Given the description of an element on the screen output the (x, y) to click on. 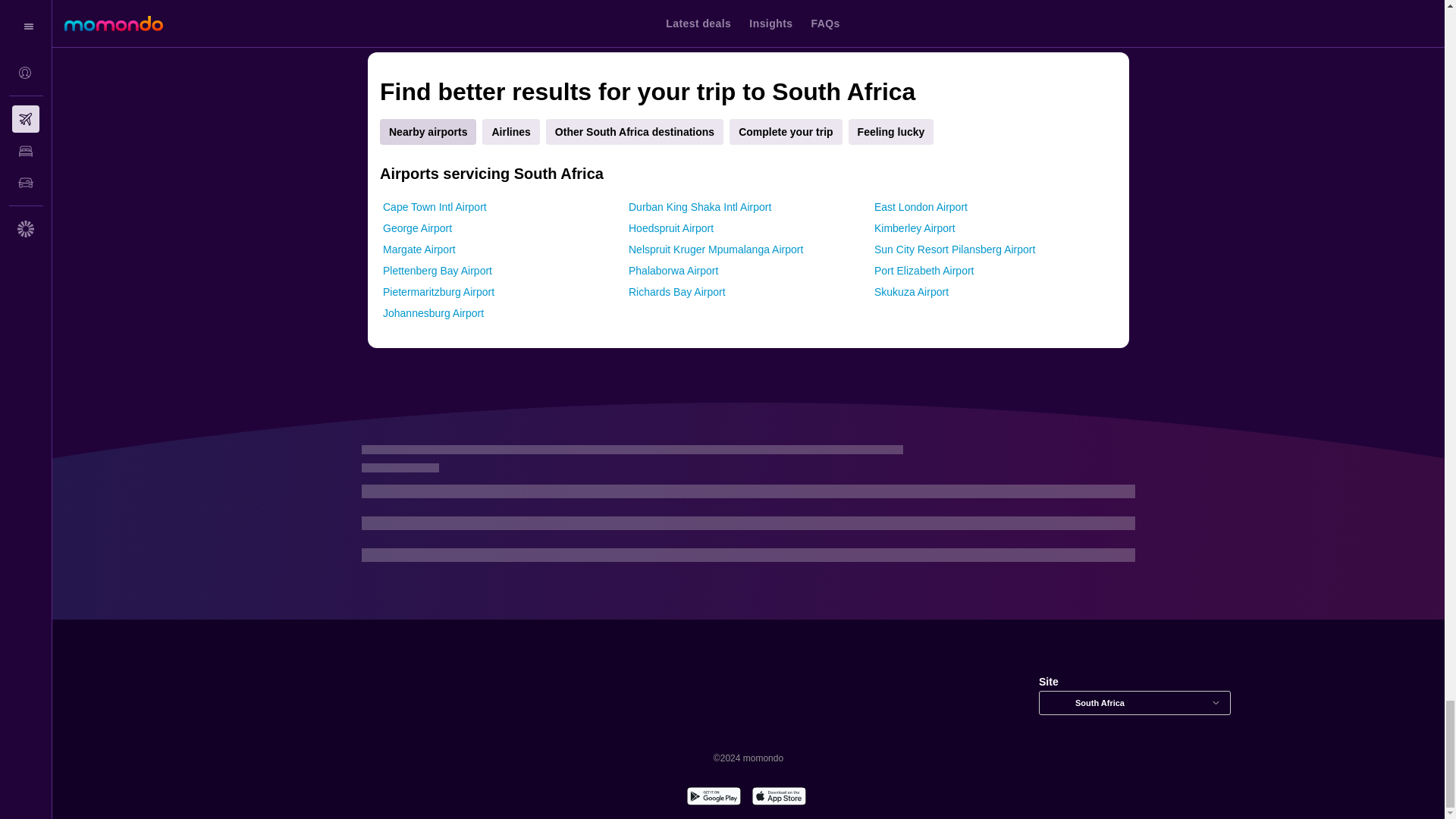
Other South Africa destinations (634, 131)
East London Airport (921, 206)
Cape Town Intl Airport (434, 206)
Complete your trip (785, 131)
Download on the App Store (778, 797)
Airlines (509, 131)
Feeling lucky (891, 131)
Nearby airports (428, 131)
Get it on Google Play (713, 797)
Durban King Shaka Intl Airport (699, 206)
